Given the description of an element on the screen output the (x, y) to click on. 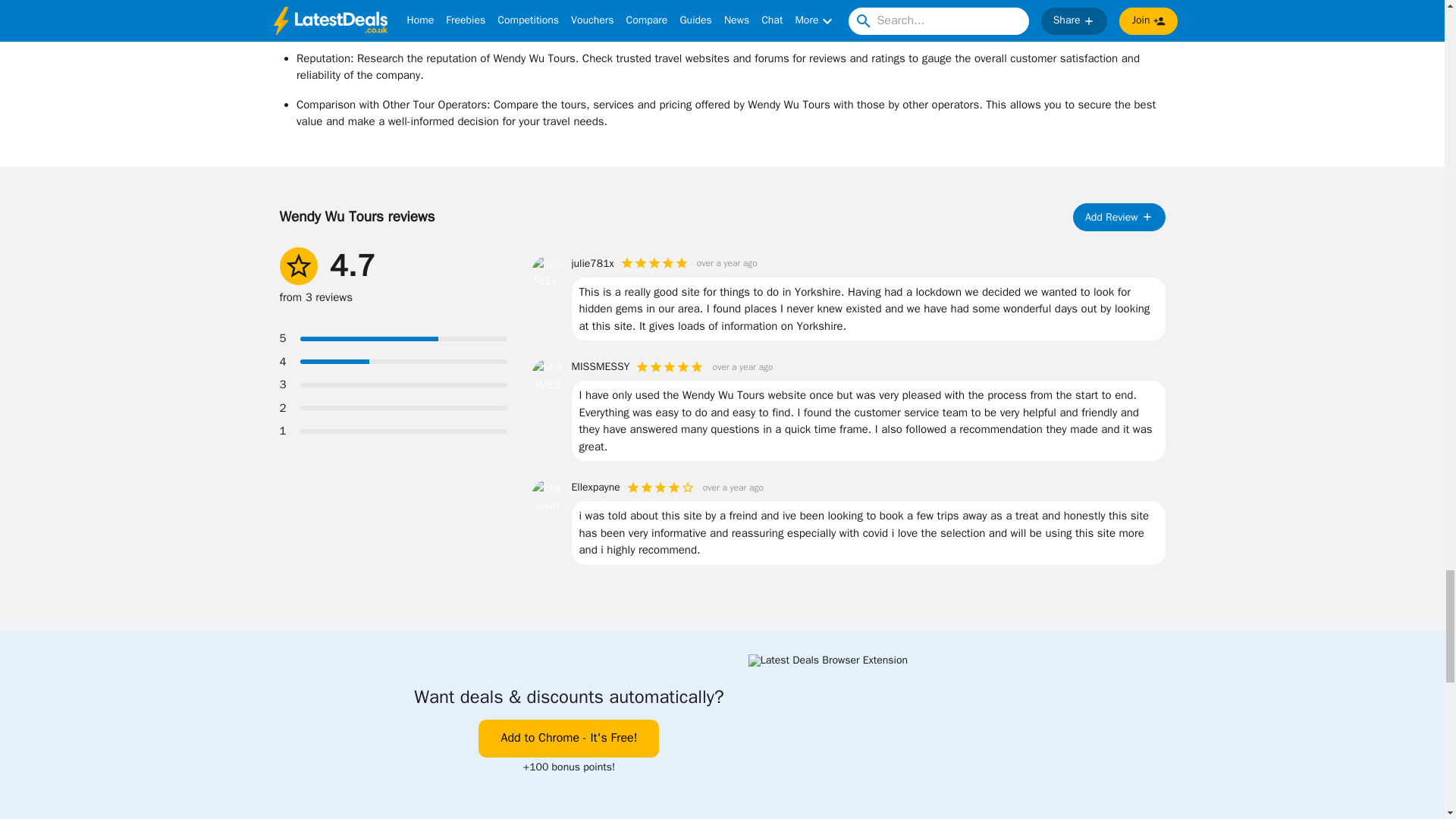
2021-06-24T08:09:33.313Z (727, 263)
2021-04-08T16:15:35.894Z (742, 366)
2021-02-03T10:38:17.088Z (732, 487)
